Given the description of an element on the screen output the (x, y) to click on. 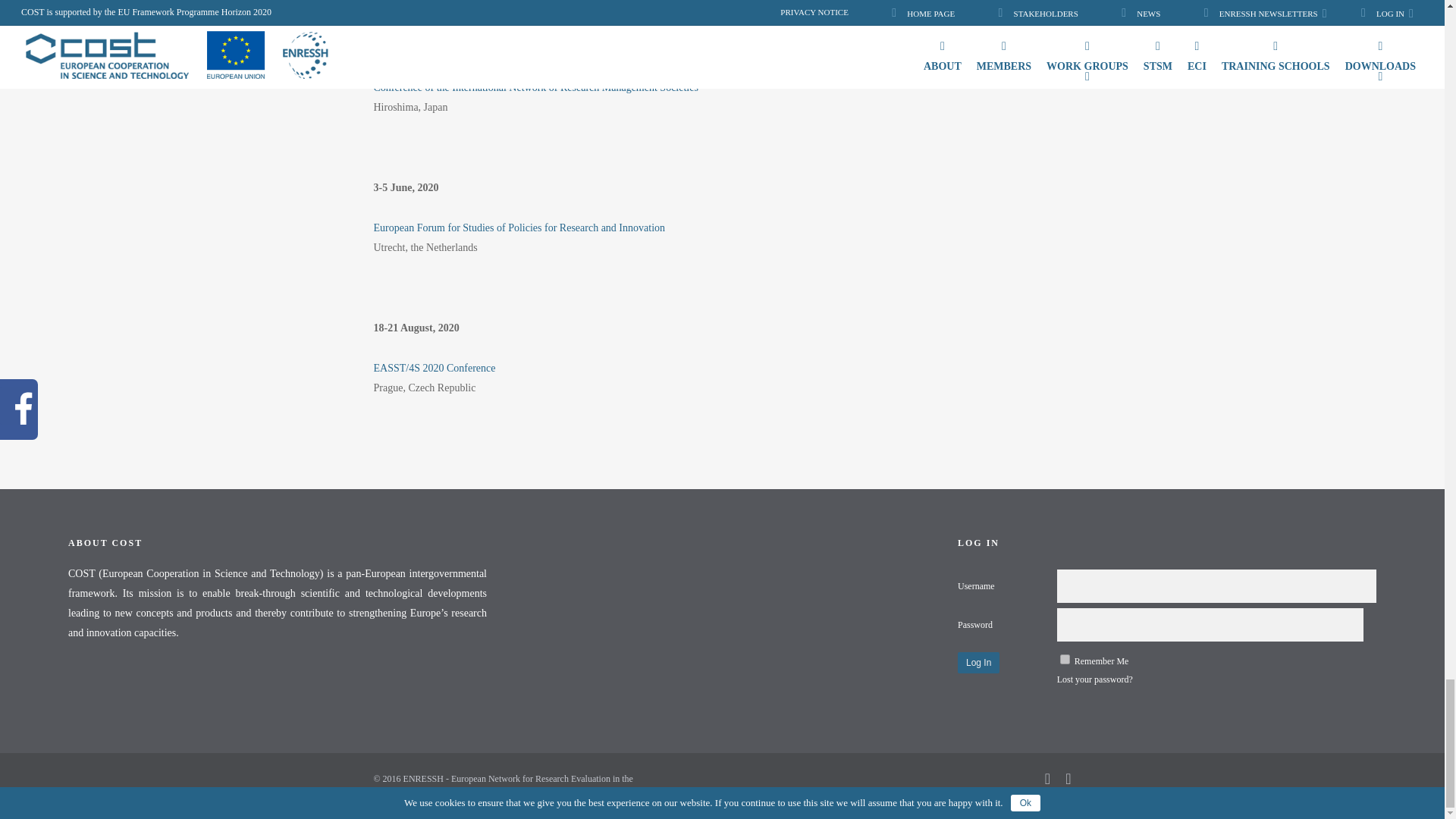
forever (1064, 659)
Log In (978, 662)
Password Lost and Found (1094, 679)
